Given the description of an element on the screen output the (x, y) to click on. 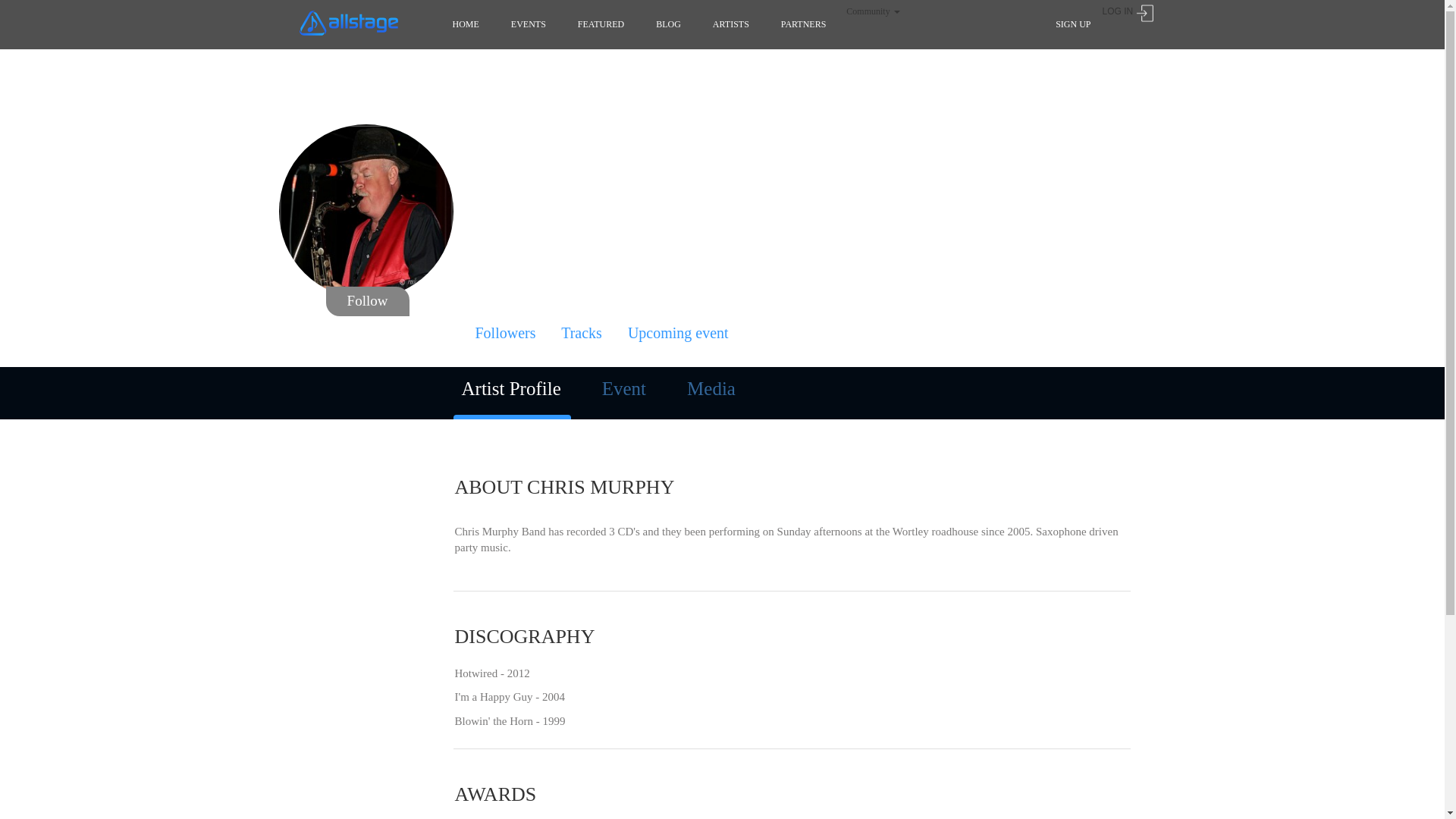
ARTISTS Element type: text (730, 24)
HOME Element type: text (465, 24)
SIGN UP Element type: text (1072, 24)
Media Element type: text (710, 389)
BLOG Element type: text (668, 24)
EVENTS Element type: text (528, 24)
PARTNERS Element type: text (803, 24)
Event Element type: text (623, 389)
Artist Profile Element type: text (511, 390)
FEATURED Element type: text (600, 24)
Follow Element type: text (367, 301)
